Given the description of an element on the screen output the (x, y) to click on. 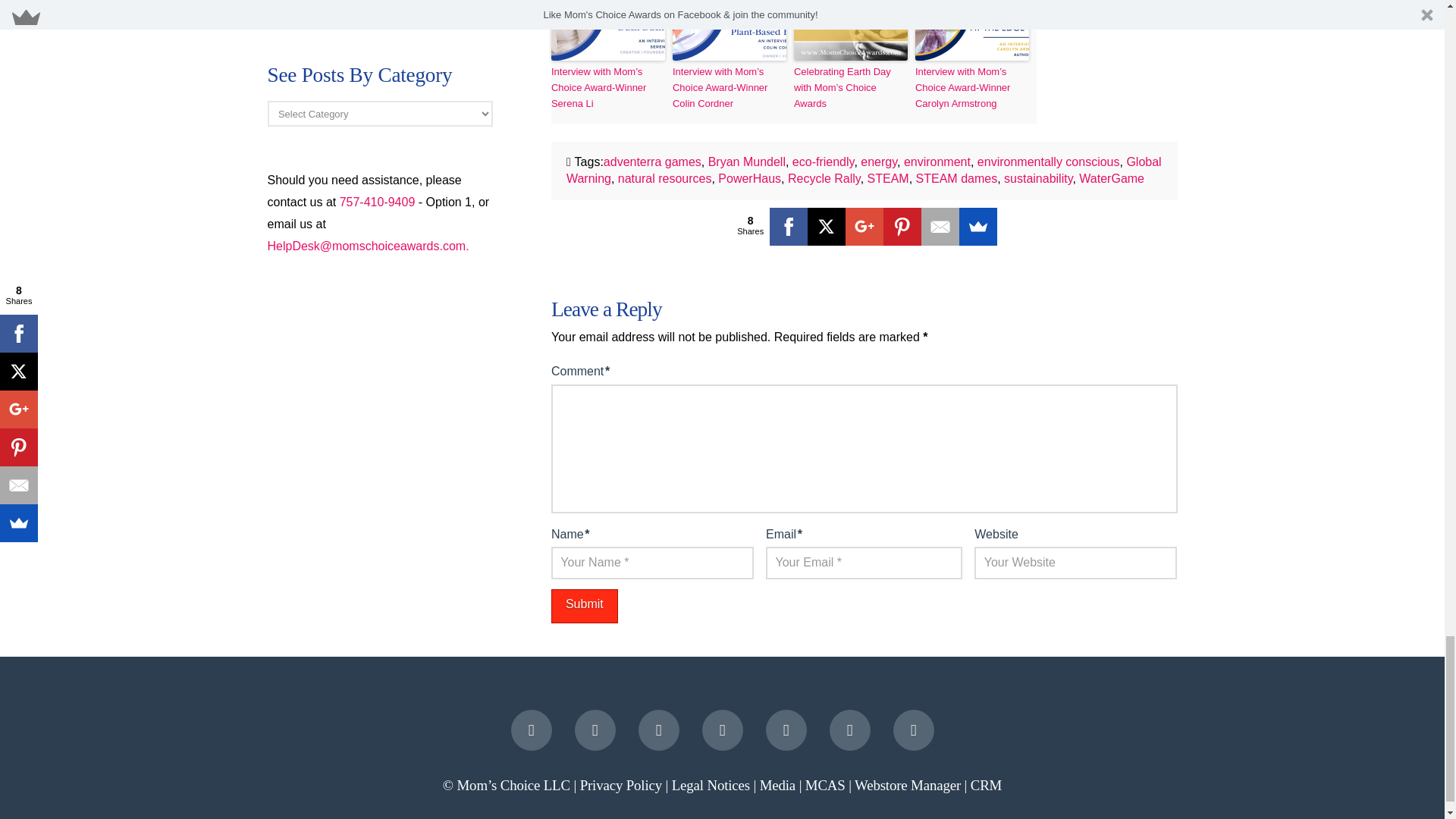
SumoMe (978, 226)
adventerra games (652, 161)
X (826, 226)
Bryan Mundell (746, 161)
Email (940, 226)
Facebook (789, 226)
Pinterest (902, 226)
Submit (584, 605)
